Given the description of an element on the screen output the (x, y) to click on. 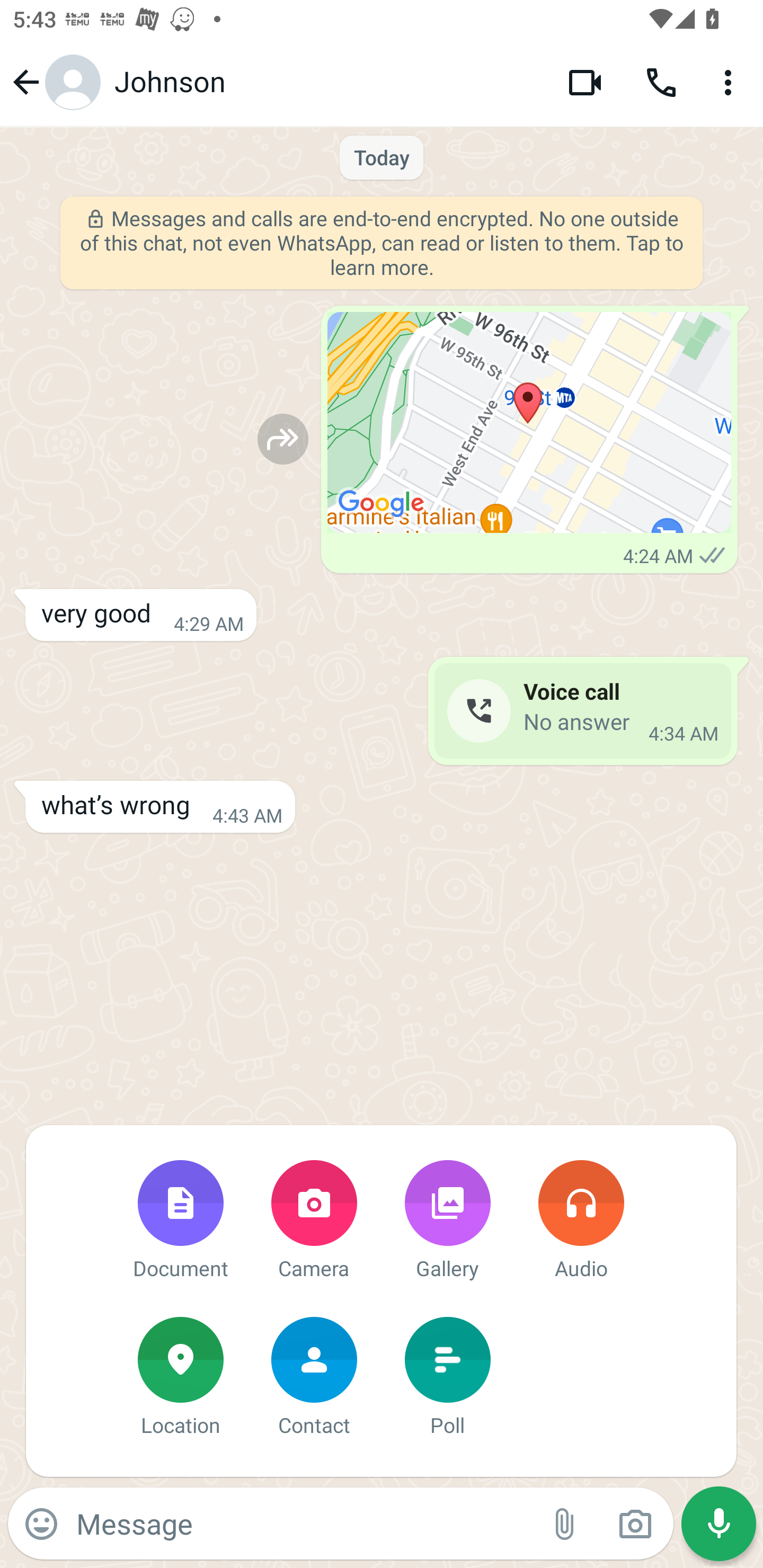
Document (180, 1221)
Camera (313, 1221)
Gallery (447, 1221)
Audio (580, 1221)
Location (180, 1378)
Contact (313, 1378)
Poll (447, 1378)
